Given the description of an element on the screen output the (x, y) to click on. 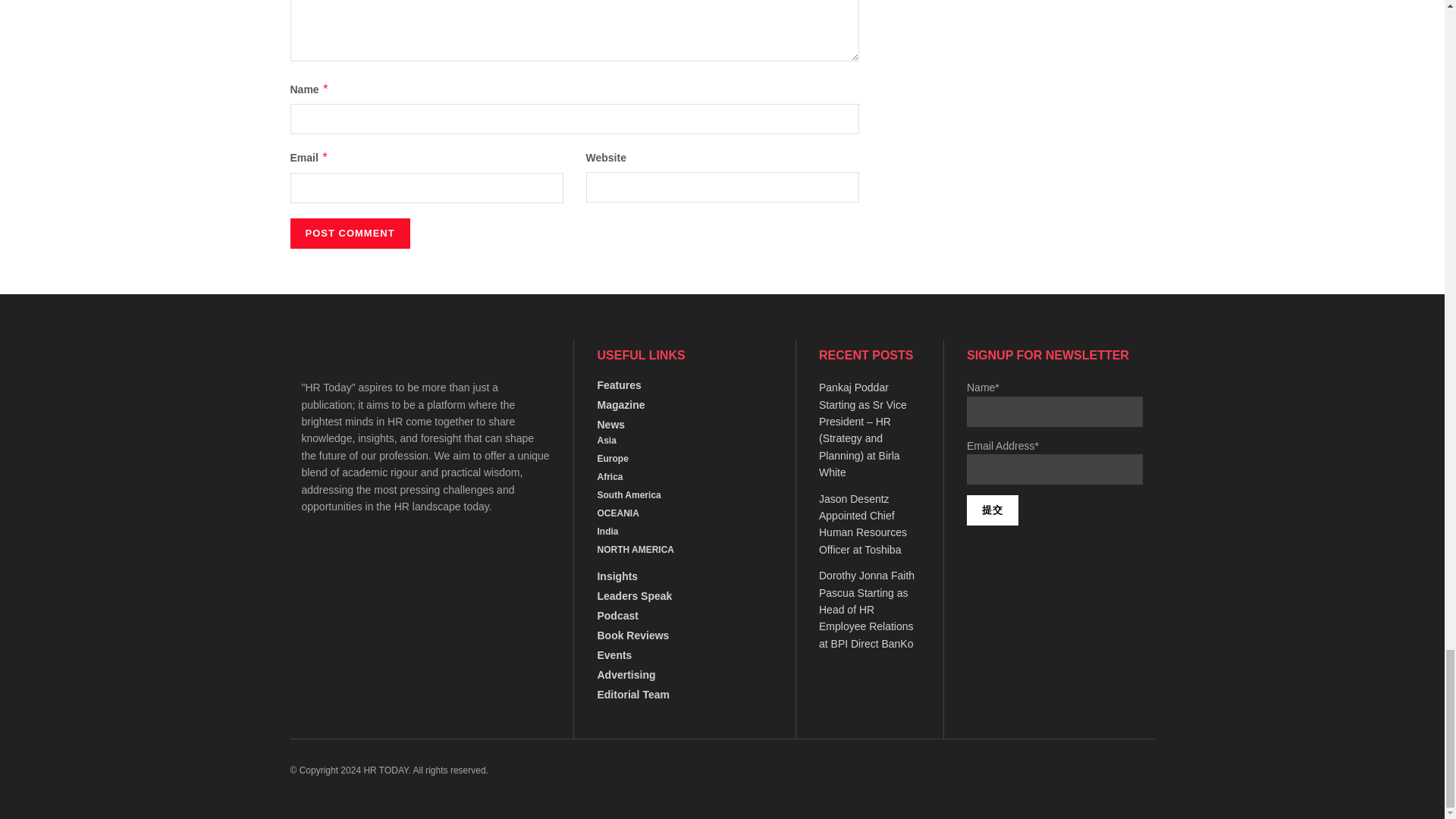
Post Comment (349, 233)
